Given the description of an element on the screen output the (x, y) to click on. 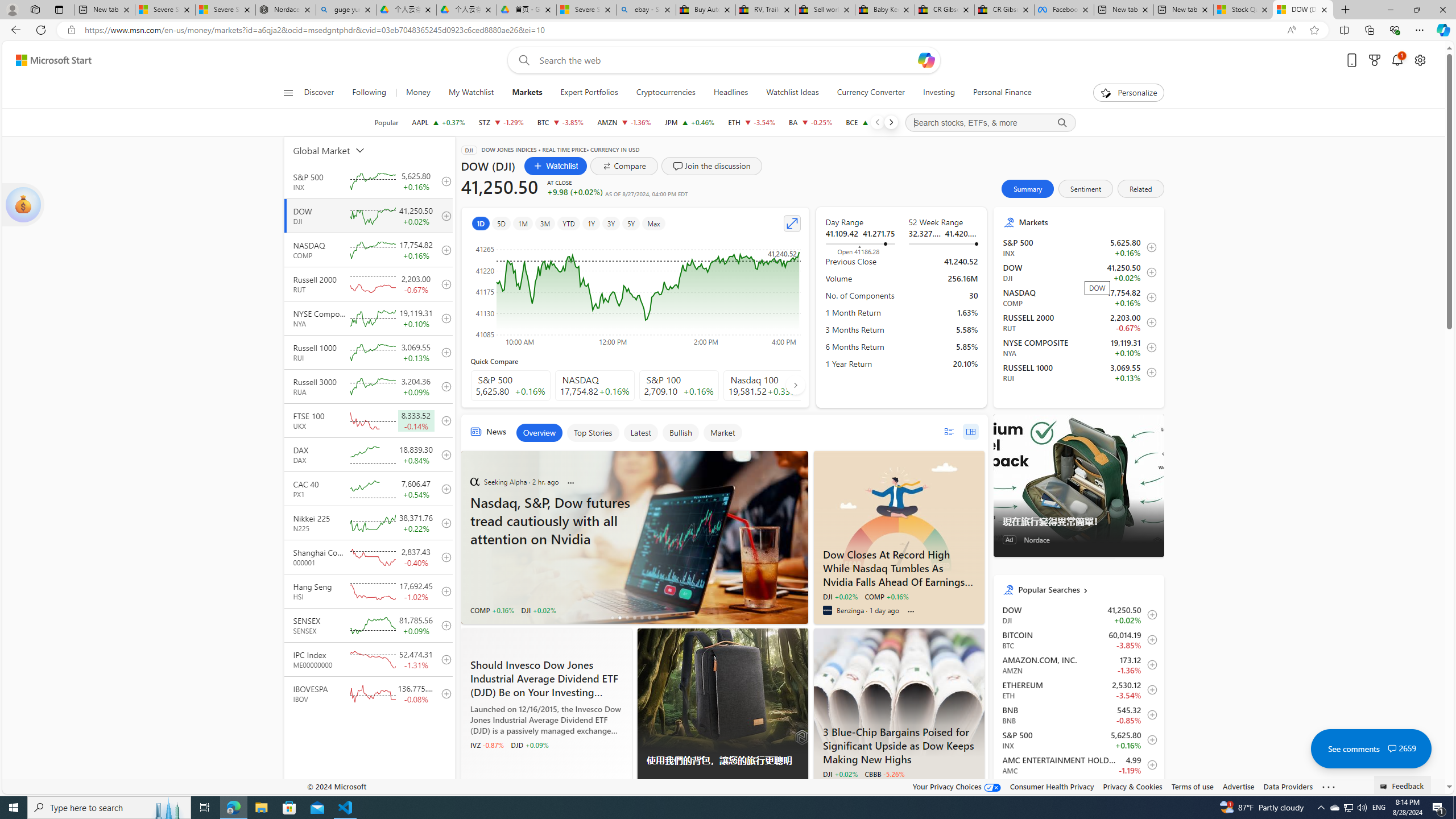
Summary (1027, 188)
Search stocks, ETFs, & more (989, 122)
Currency Converter (870, 92)
Privacy & Cookies (1131, 785)
DJD +0.09% (528, 744)
Class: recharts-surface (635, 292)
Data Providers (1288, 786)
